Given the description of an element on the screen output the (x, y) to click on. 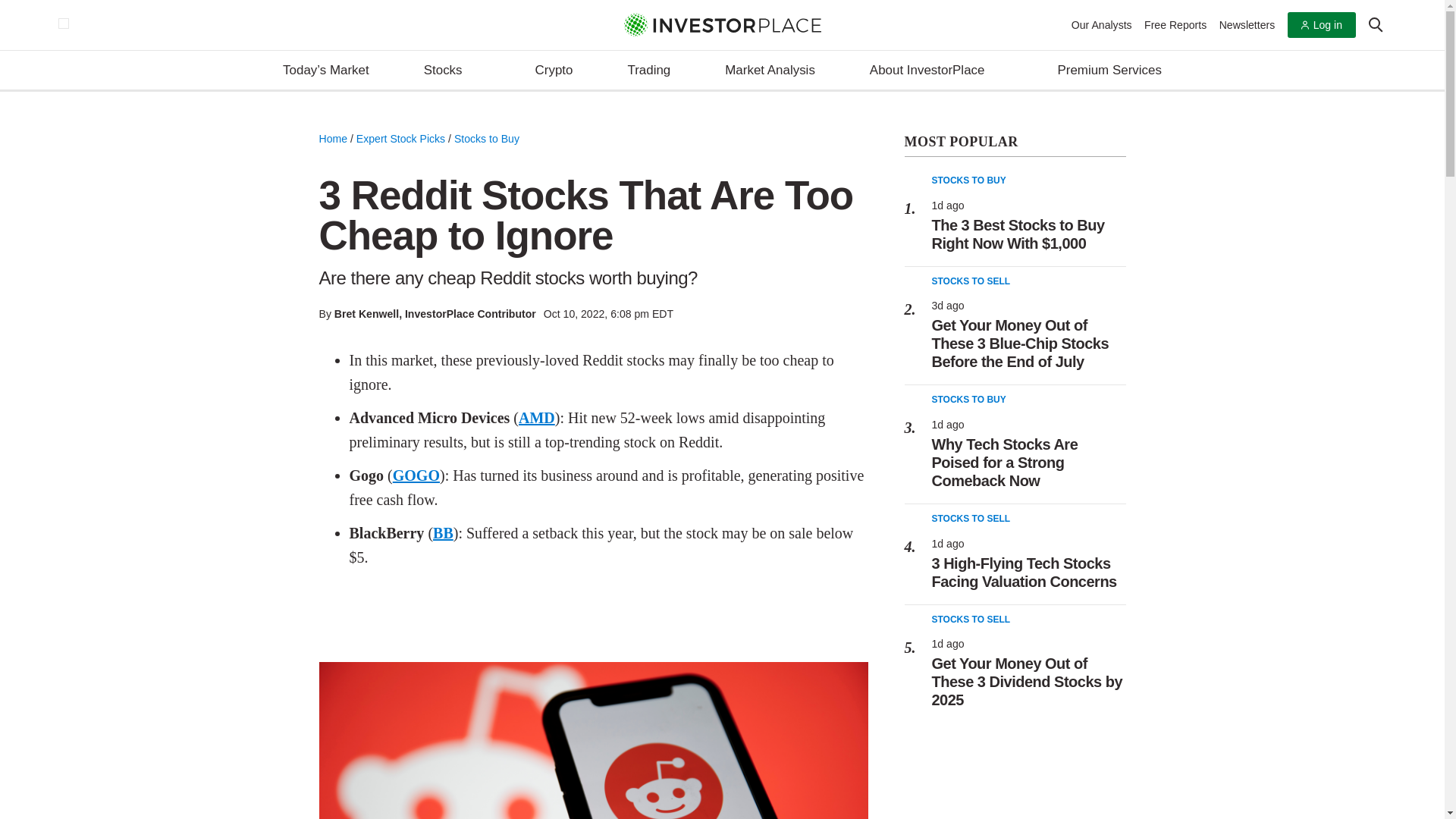
Stocks (452, 70)
Log in (1321, 25)
View profile of Bret Kenwell (366, 313)
Our Analysts (1101, 24)
Free Reports (1175, 24)
Newsletters (1247, 24)
View Most Read Content (1014, 142)
